Given the description of an element on the screen output the (x, y) to click on. 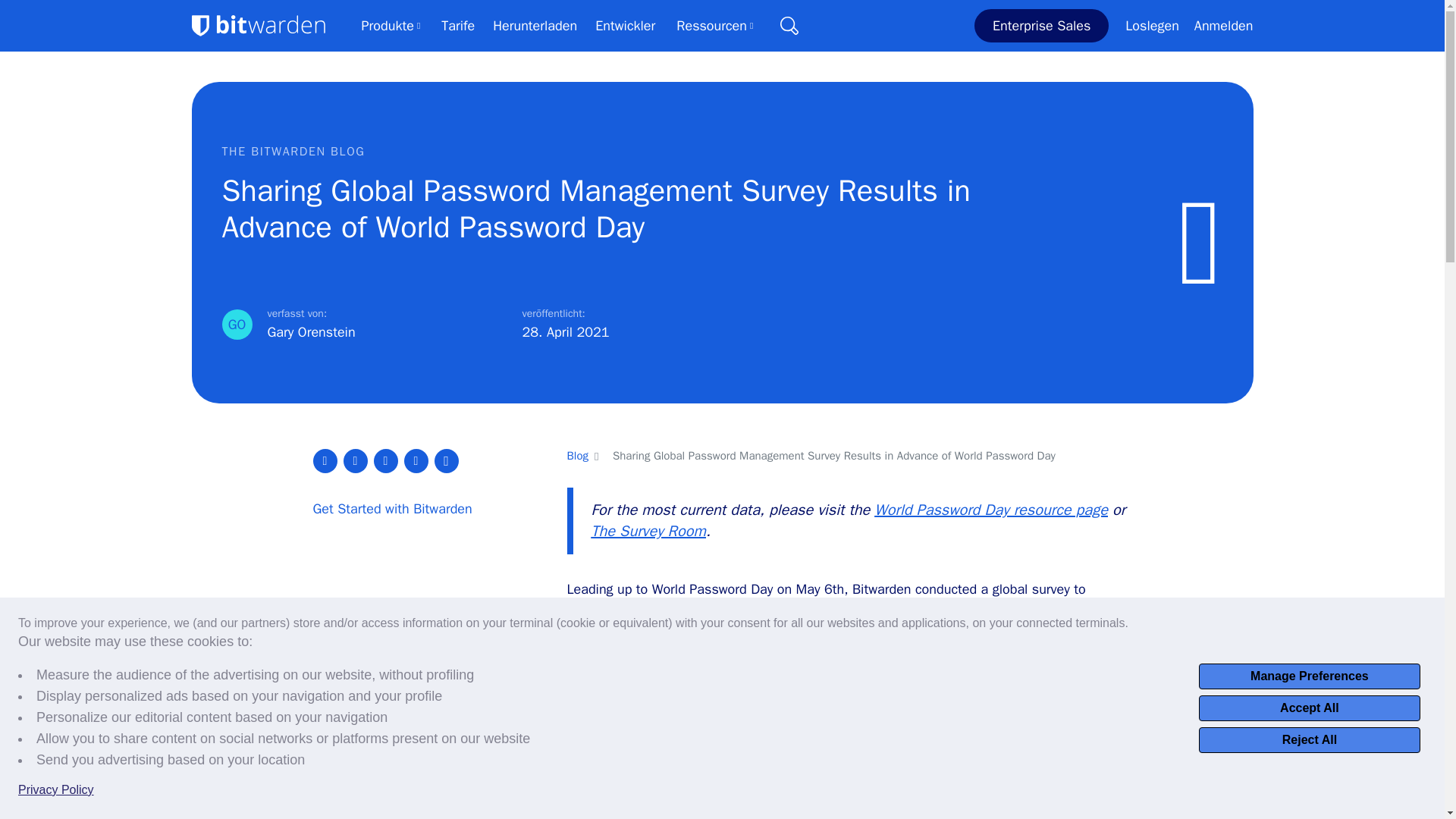
Tweet (324, 460)
Facebook (354, 460)
Loslegen (1151, 25)
Bitwarden homepage (257, 25)
Copy Link (445, 460)
Enterprise Sales (1040, 25)
Anmelden (1223, 25)
Reject All (1309, 739)
Email (415, 460)
Blog (577, 455)
Entwickler (625, 25)
Herunterladen (534, 25)
Privacy Policy (55, 789)
LinkedIn (384, 460)
Accept All (1309, 708)
